Given the description of an element on the screen output the (x, y) to click on. 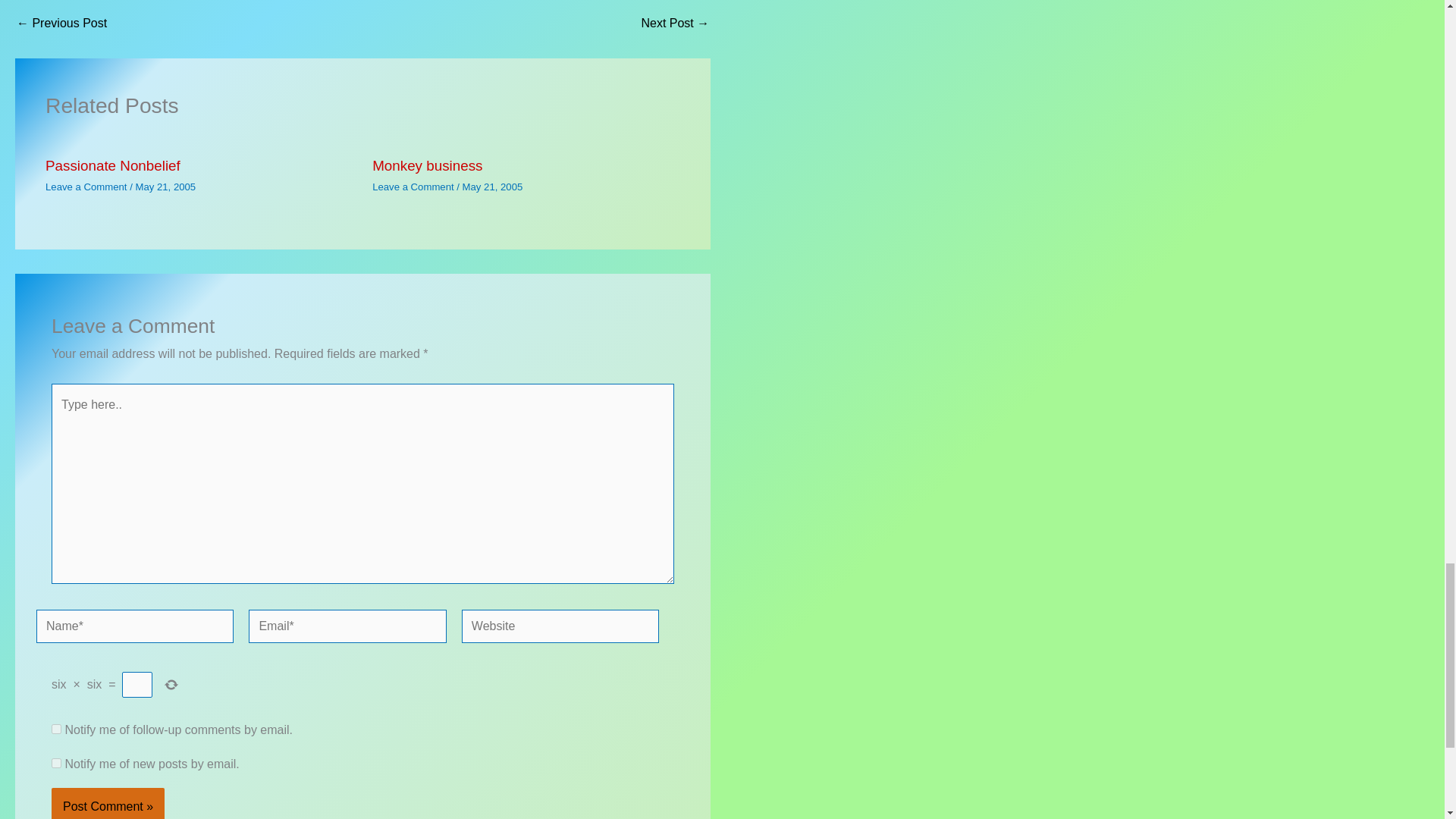
subscribe (55, 763)
subscribe (55, 728)
We Asked People to Comment on U.S. Weapons Shipments to Wars (674, 23)
